Given the description of an element on the screen output the (x, y) to click on. 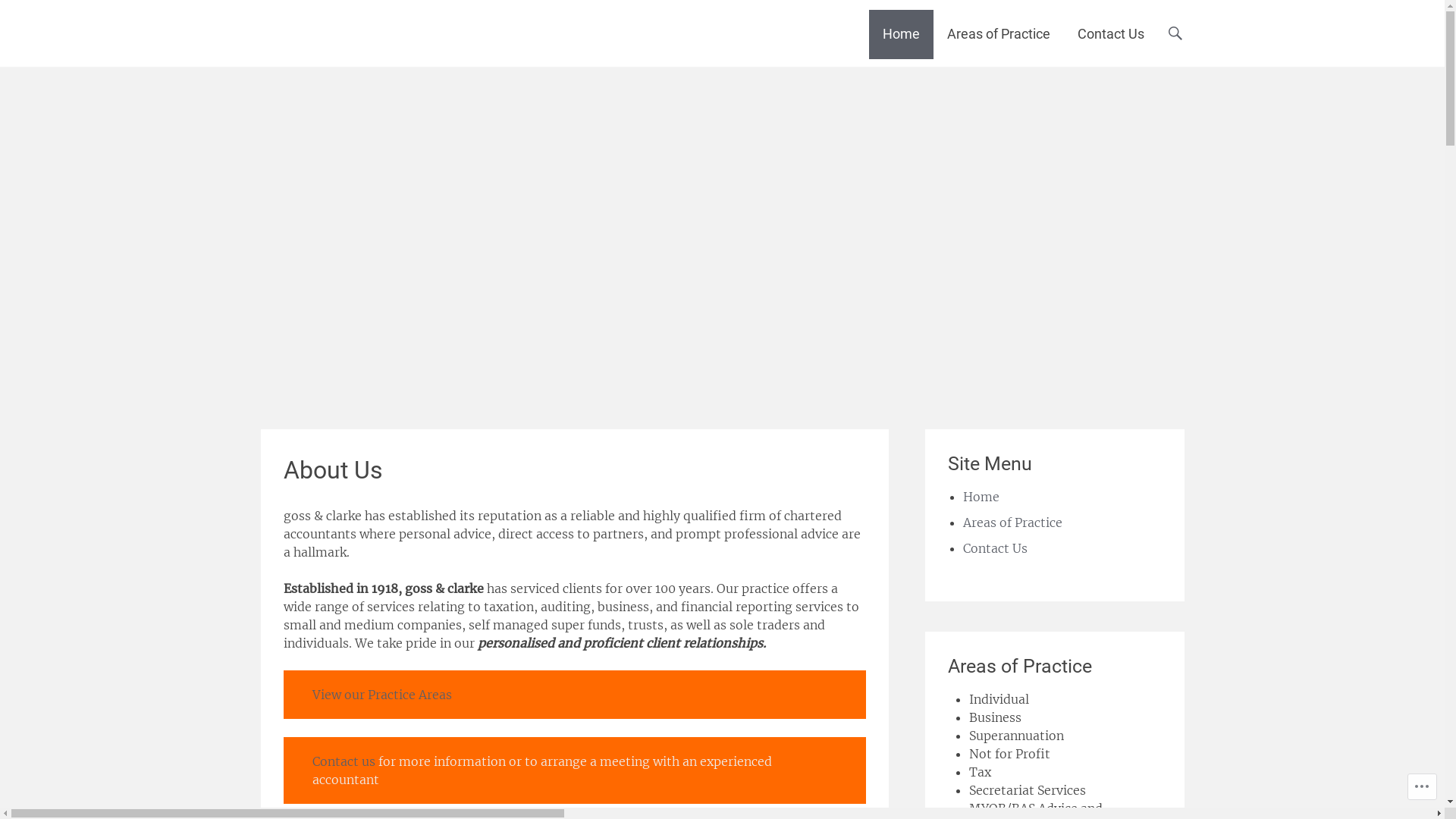
Contact Us Element type: text (995, 547)
Contact Us Element type: text (1110, 34)
Contact us Element type: text (343, 760)
Home Element type: text (981, 496)
Areas of Practice Element type: text (997, 34)
About Us Element type: text (332, 469)
Areas of Practice Element type: text (1012, 522)
View our Practice Areas Element type: text (381, 694)
Home Element type: text (901, 34)
